Given the description of an element on the screen output the (x, y) to click on. 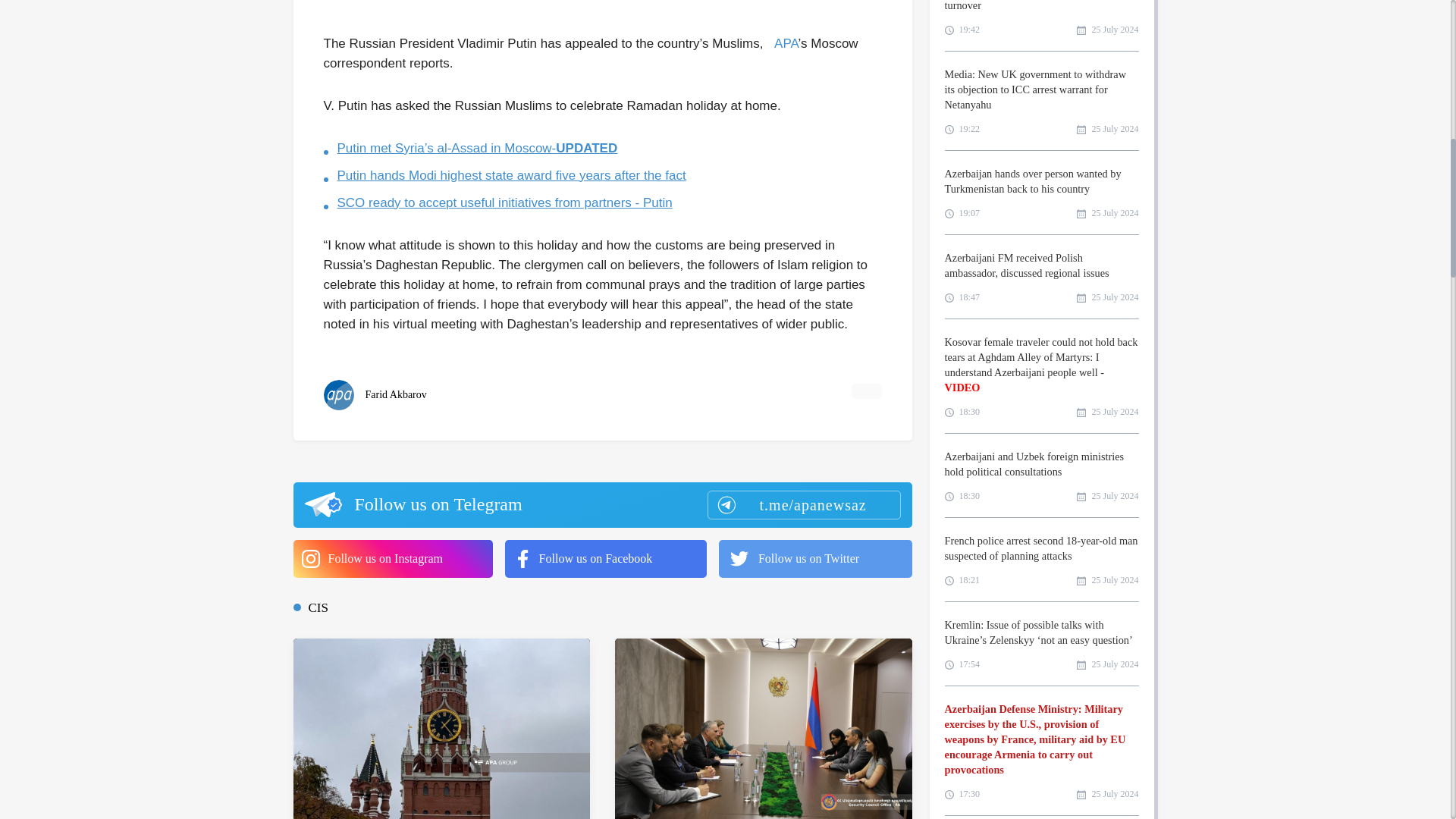
Follow us on Facebook (605, 558)
Follow us on Telegram (601, 504)
Follow us on Instagram (392, 558)
Follow us on Twitter (815, 558)
